Given the description of an element on the screen output the (x, y) to click on. 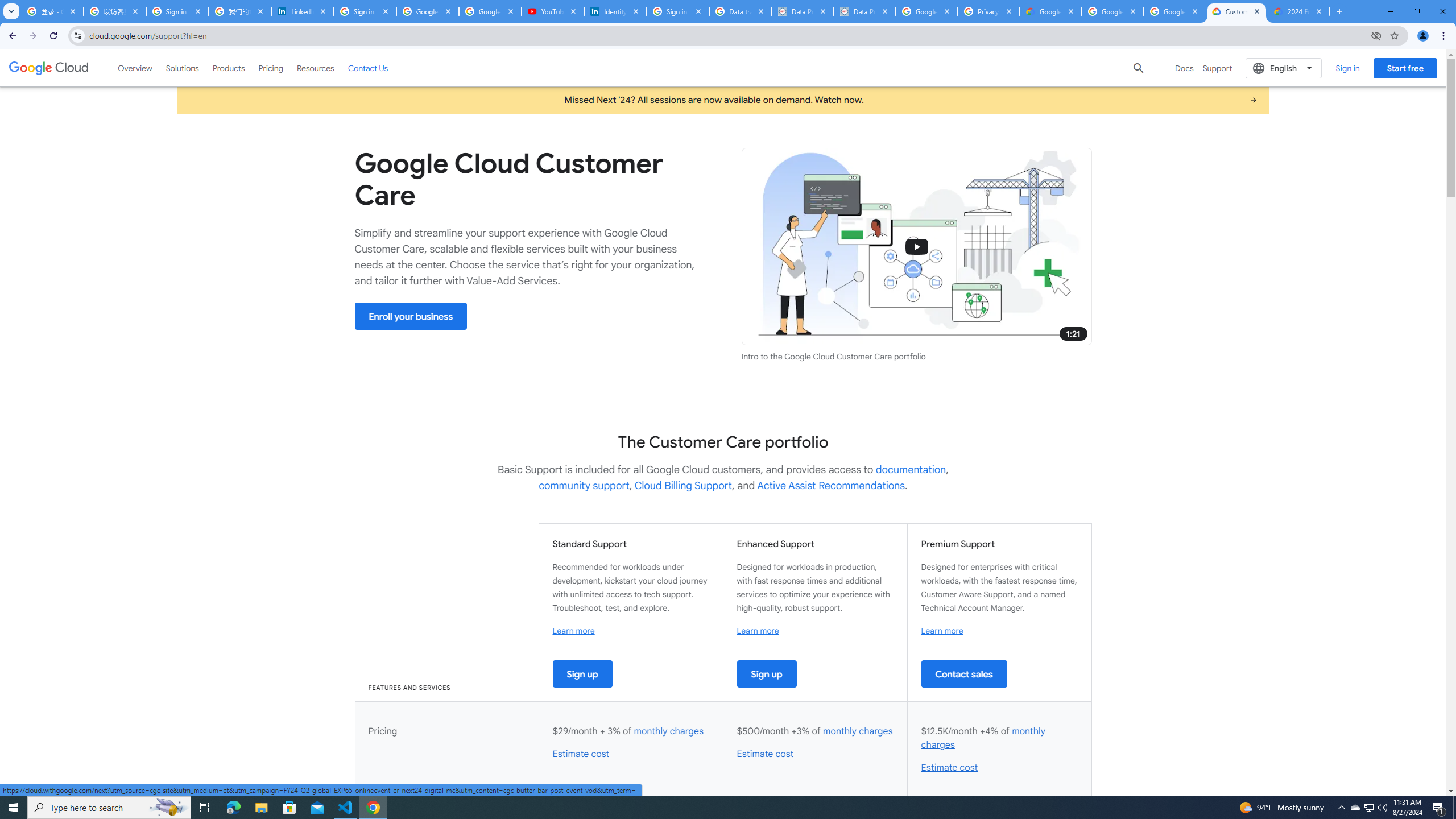
Active Assist Recommendations (830, 485)
Sign in - Google Accounts (678, 11)
Customer Care | Google Cloud (1236, 11)
Data Privacy Framework (802, 11)
Learn more (941, 630)
Sign up (766, 673)
Google Workspace - Specific Terms (1174, 11)
